Given the description of an element on the screen output the (x, y) to click on. 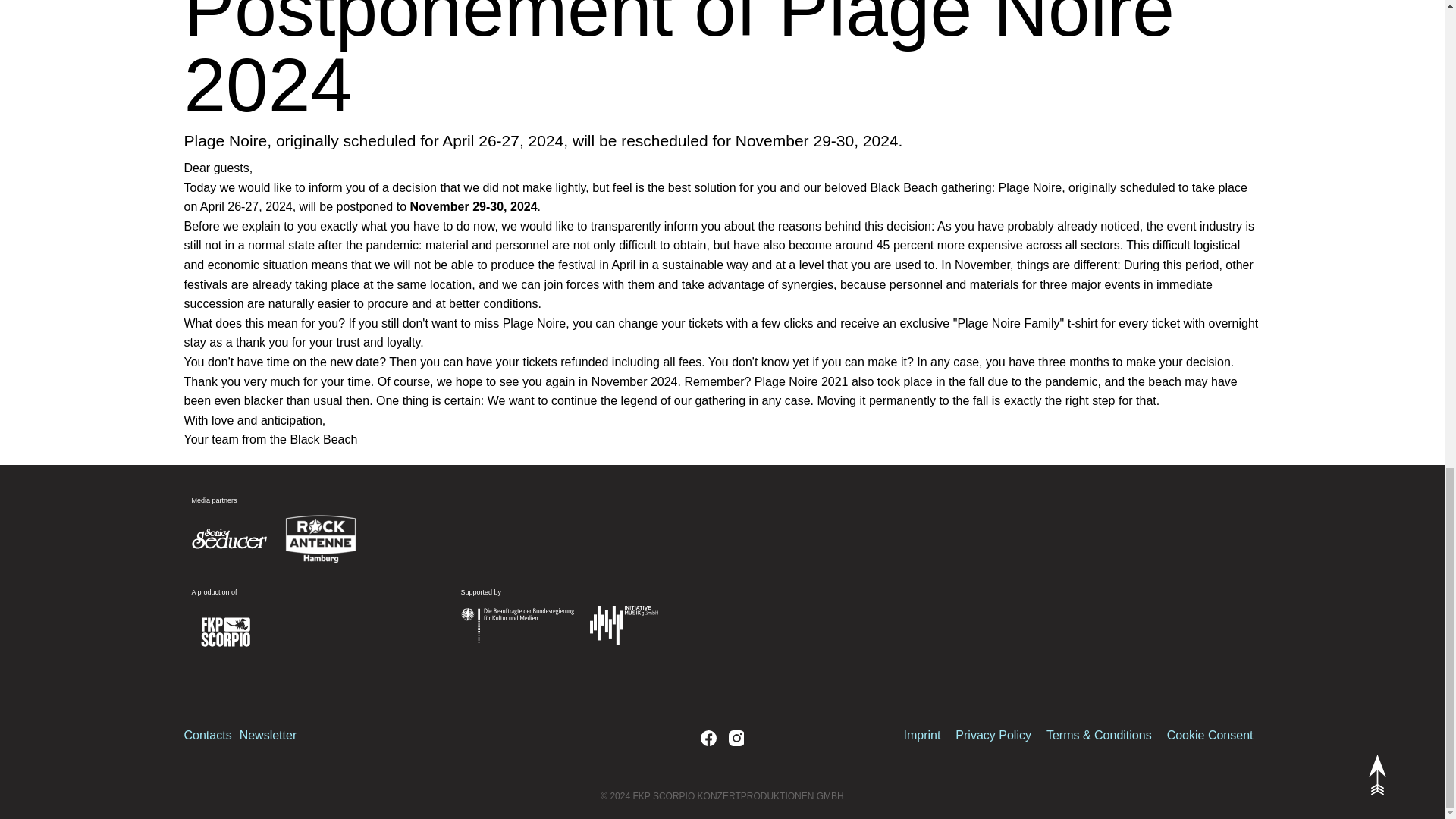
Privacy Policy (992, 735)
Contacts (207, 735)
Imprint (921, 735)
Newsletter (268, 735)
Cookie Consent (1210, 735)
